Given the description of an element on the screen output the (x, y) to click on. 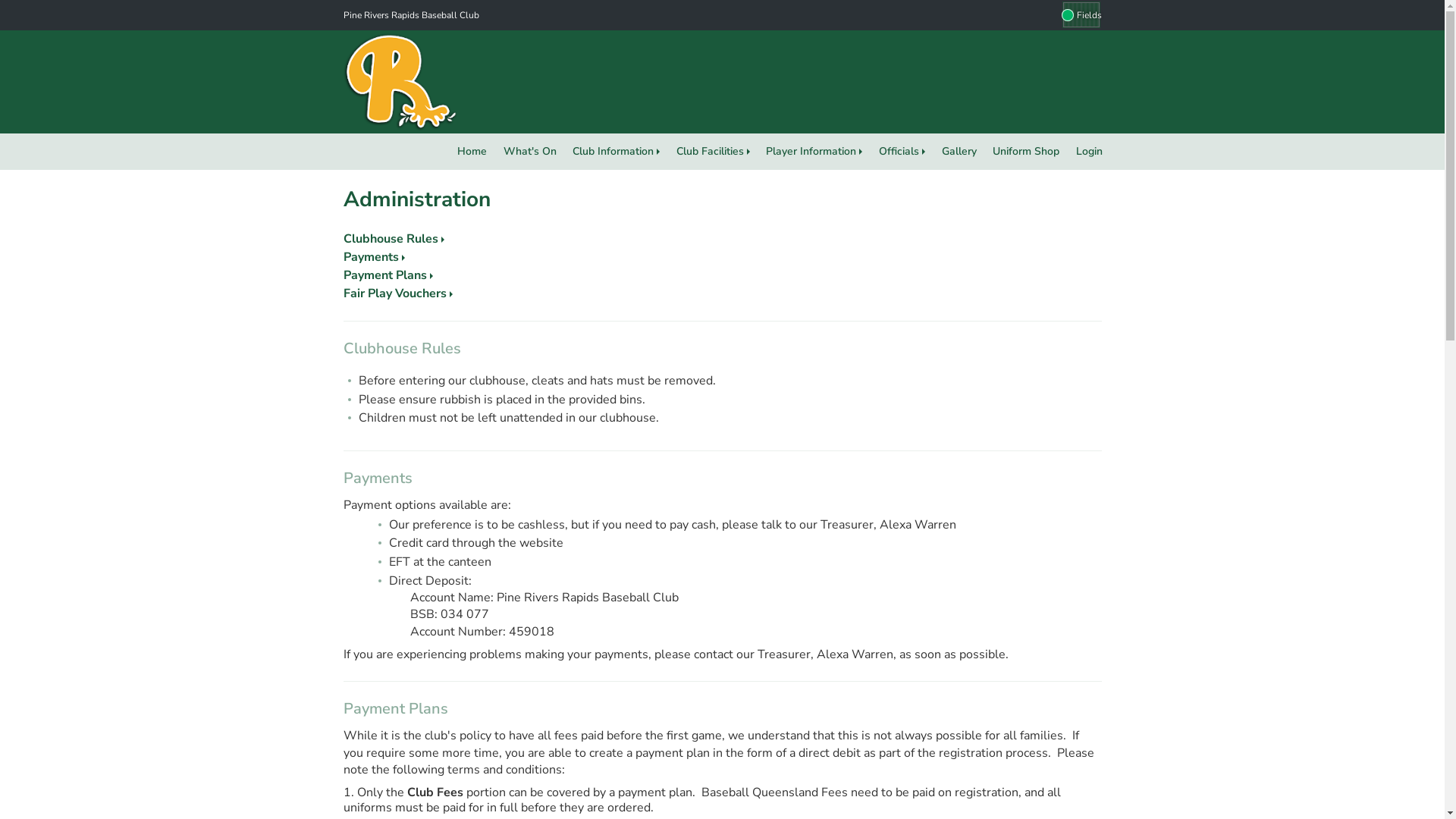
Club Information Element type: text (616, 151)
Payment Plans Element type: text (387, 275)
What's On Element type: text (529, 151)
Clubhouse Rules Element type: text (392, 238)
Payments Element type: text (373, 256)
Gallery Element type: text (959, 151)
Uniform Shop Element type: text (1025, 151)
Fields Element type: text (1081, 15)
Club Facilities Element type: text (713, 151)
Pine Rivers Rapids Baseball Club Element type: text (410, 15)
Player Information Element type: text (814, 151)
Login Element type: text (1088, 151)
Officials Element type: text (901, 151)
Fair Play Vouchers Element type: text (396, 293)
Home Element type: text (471, 151)
